Given the description of an element on the screen output the (x, y) to click on. 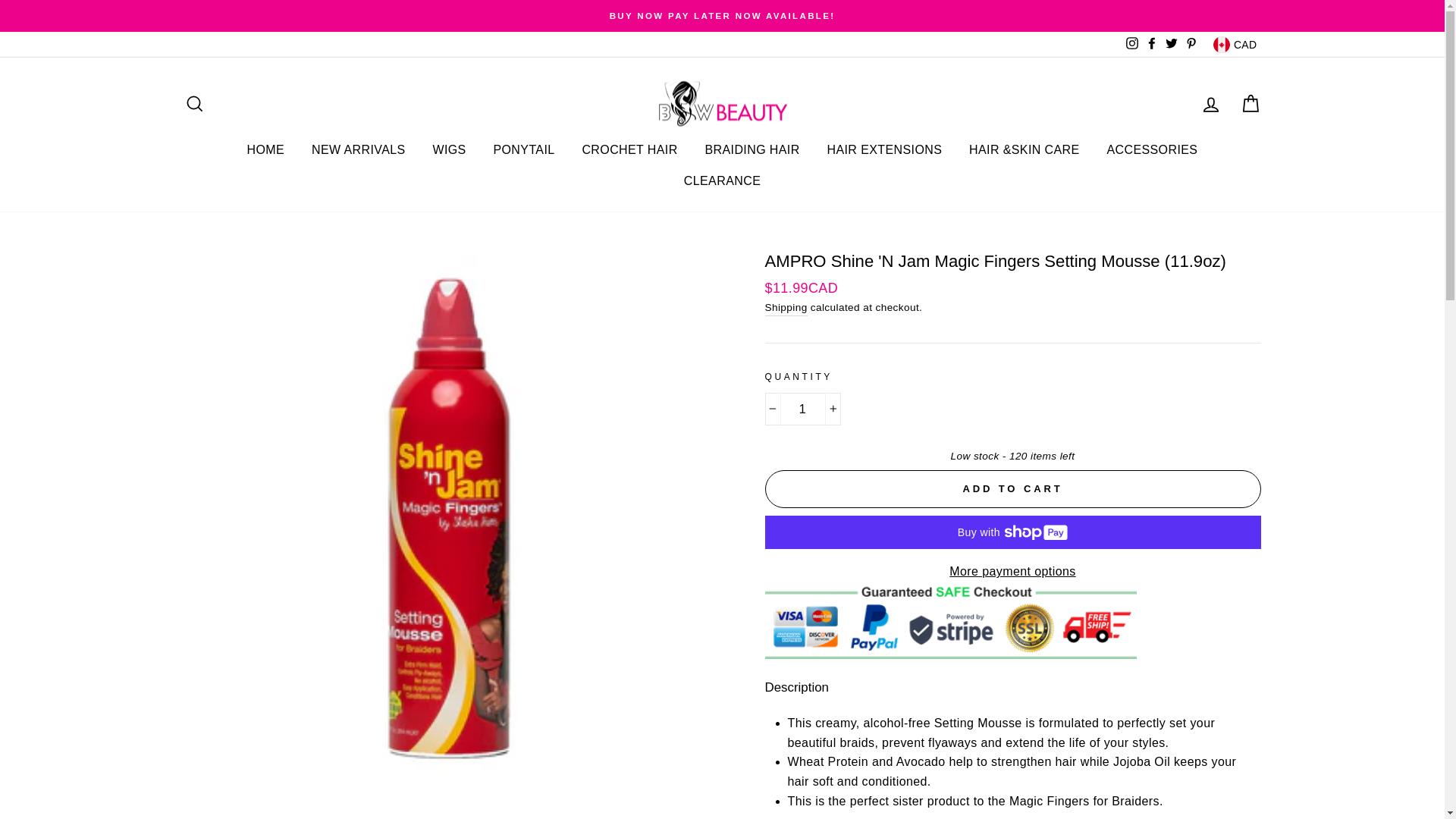
CAD (1234, 44)
1 (802, 409)
account (1210, 104)
icon-search (194, 103)
BUY NOW PAY LATER NOW AVAILABLE! (722, 15)
